Given the description of an element on the screen output the (x, y) to click on. 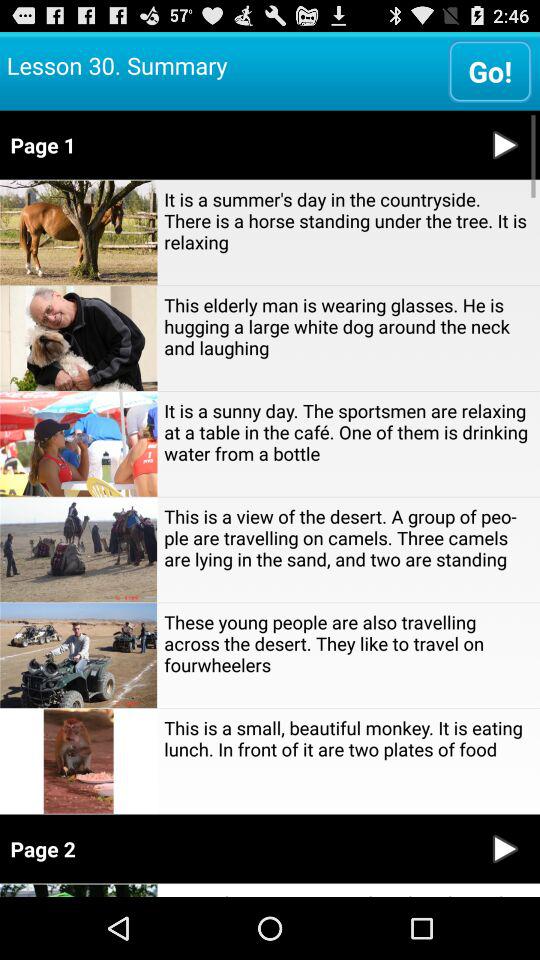
select the this elderly man (348, 325)
